Given the description of an element on the screen output the (x, y) to click on. 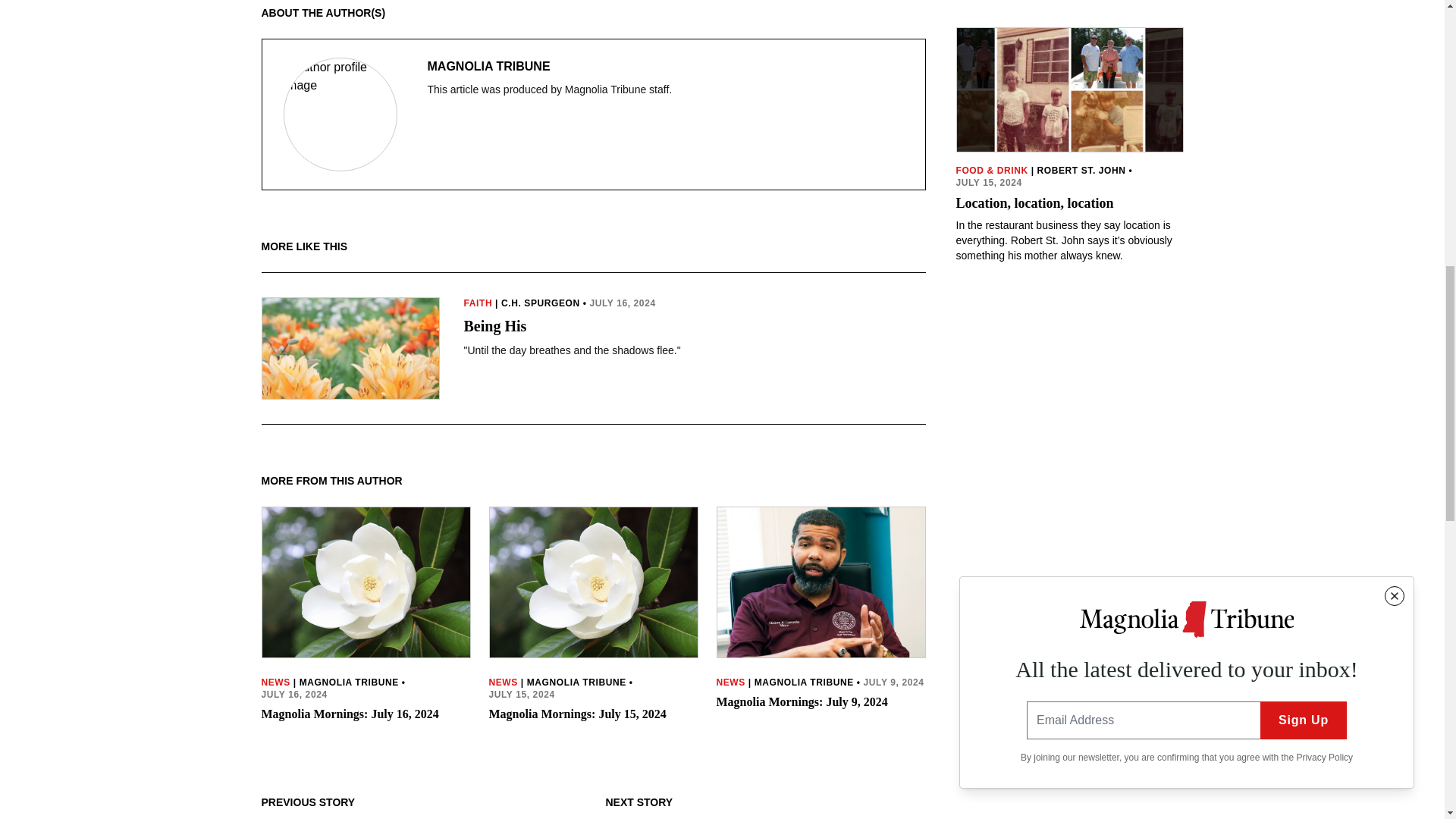
MAGNOLIA TRIBUNE (550, 66)
FAITH (478, 303)
